Given the description of an element on the screen output the (x, y) to click on. 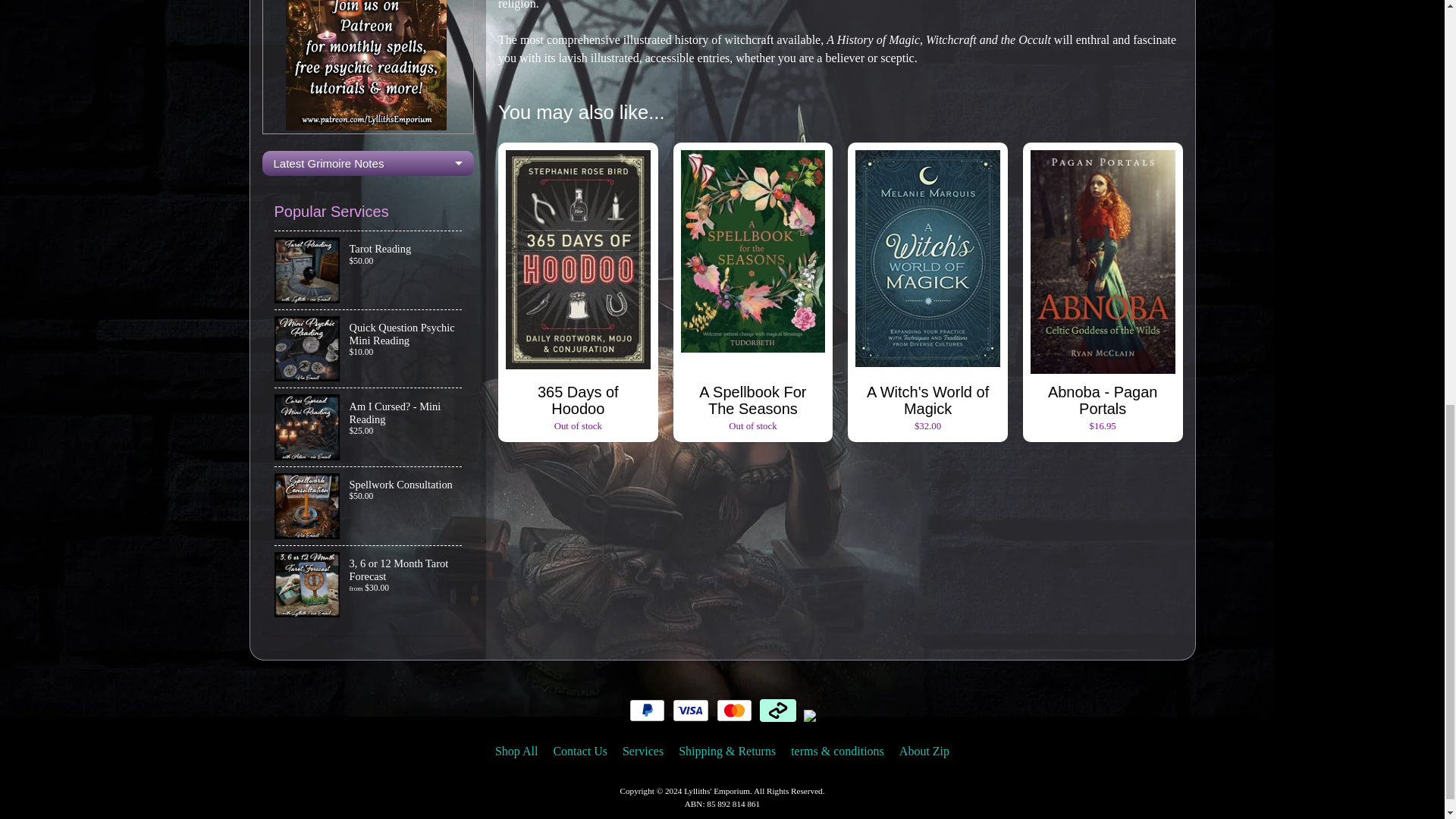
Quick Question Psychic Mini Reading (369, 349)
3, 6 or 12 Month Tarot Forecast (369, 585)
Spellwork Consultation (369, 505)
Tarot Reading (369, 269)
Am I Cursed? - Mini Reading (369, 427)
